Given the description of an element on the screen output the (x, y) to click on. 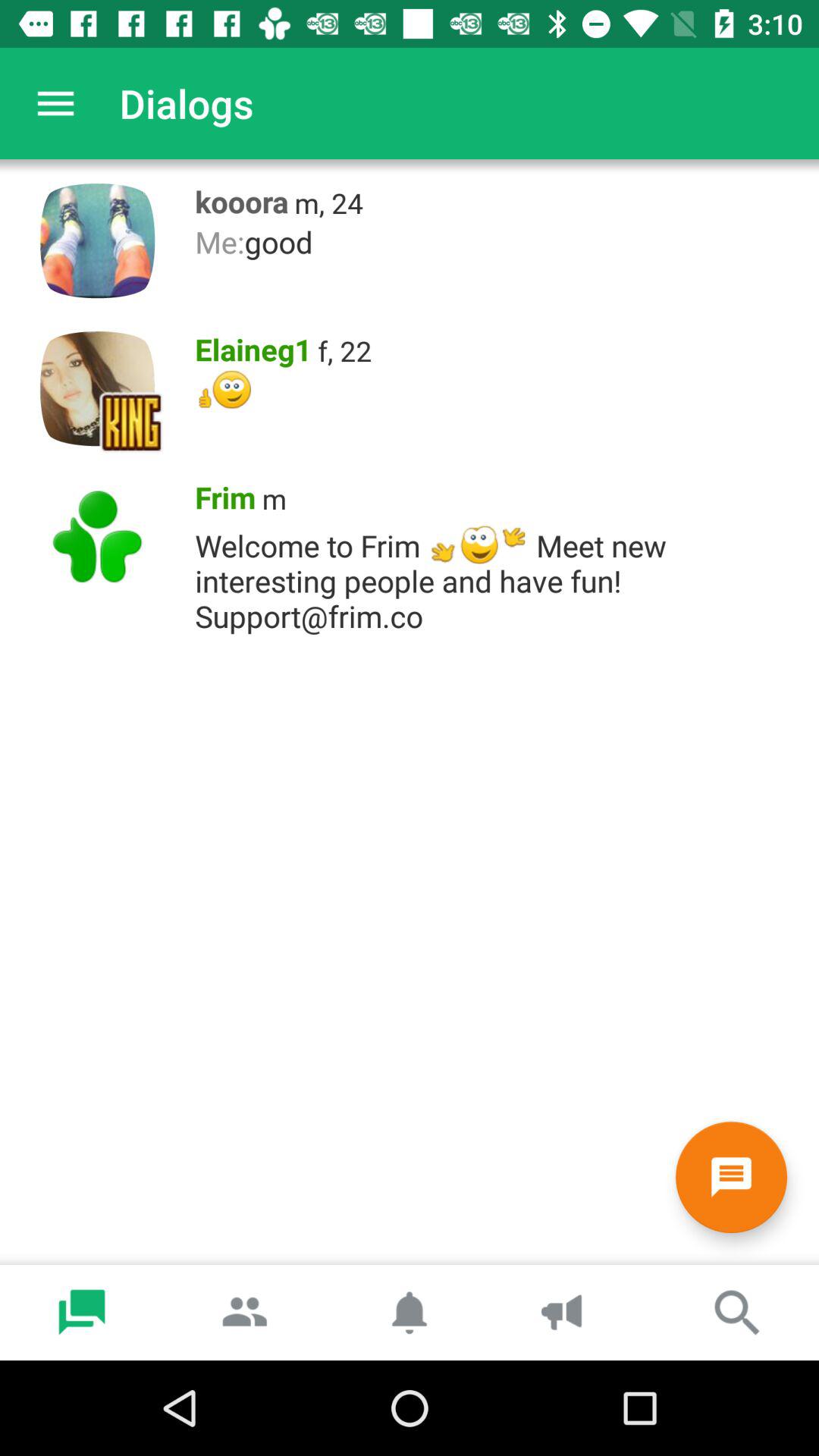
press item above me:good icon (328, 202)
